Given the description of an element on the screen output the (x, y) to click on. 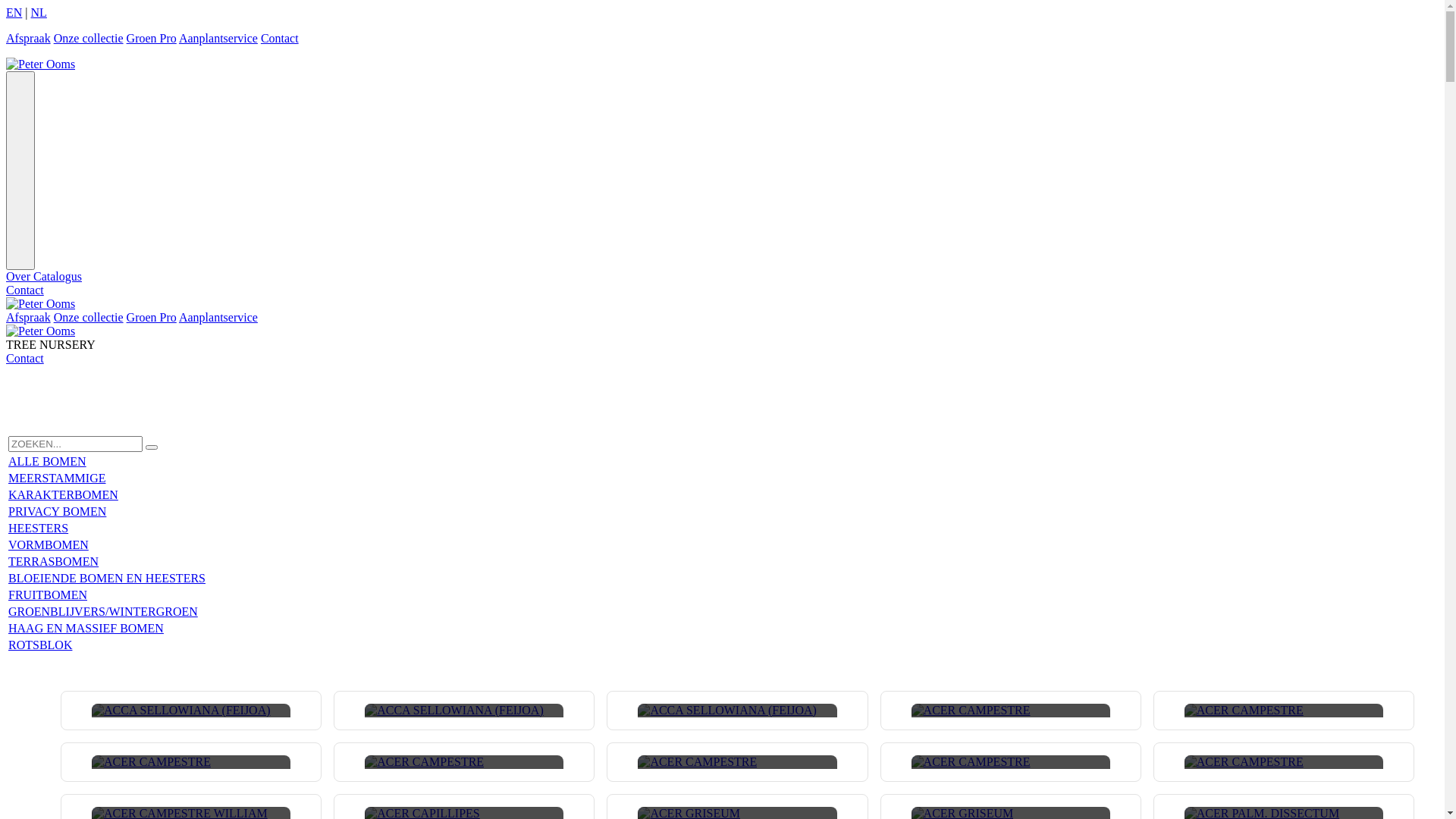
Contact Element type: text (24, 289)
GROENBLIJVERS/WINTERGROEN Element type: text (102, 611)
Contact Element type: text (279, 37)
FRUITBOMEN Element type: text (47, 594)
EN Element type: text (13, 12)
Afspraak Element type: text (28, 316)
BLOEIENDE BOMEN EN HEESTERS Element type: text (106, 577)
ROTSBLOK Element type: text (40, 644)
Onze collectie Element type: text (88, 37)
MEERSTAMMIGE Element type: text (57, 477)
Aanplantservice Element type: text (217, 316)
HAAG EN MASSIEF BOMEN Element type: text (85, 627)
ALLE BOMEN Element type: text (47, 461)
TERRASBOMEN Element type: text (53, 561)
Contact Element type: text (24, 357)
VORMBOMEN Element type: text (48, 544)
Groen Pro Element type: text (151, 37)
NL Element type: text (39, 12)
Over Element type: text (19, 275)
Afspraak Element type: text (28, 37)
Aanplantservice Element type: text (217, 37)
Groen Pro Element type: text (151, 316)
KARAKTERBOMEN Element type: text (63, 494)
HEESTERS Element type: text (38, 527)
PRIVACY BOMEN Element type: text (57, 511)
Onze collectie Element type: text (88, 316)
Catalogus Element type: text (57, 275)
